Given the description of an element on the screen output the (x, y) to click on. 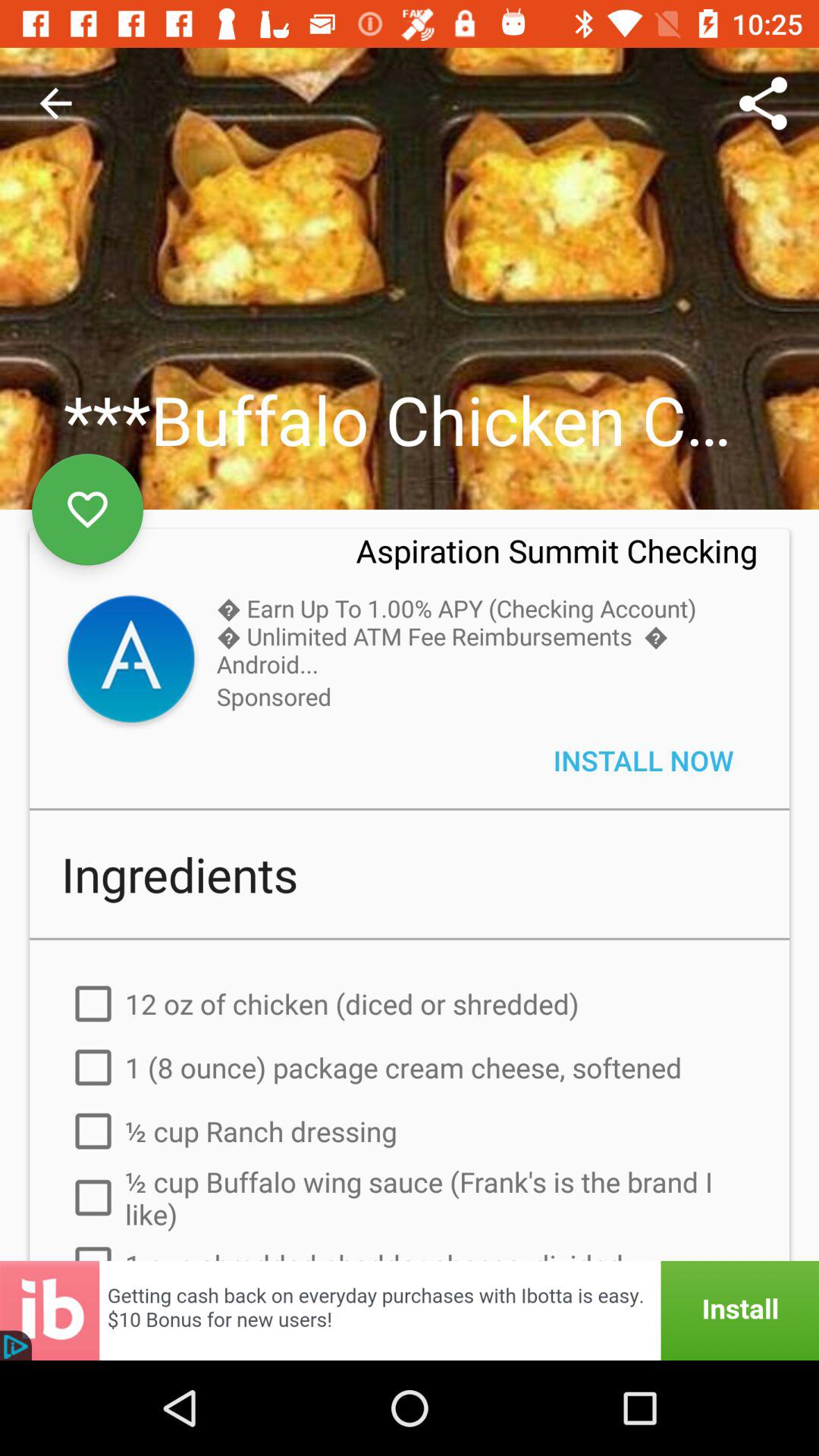
open advertisement (409, 1310)
